Given the description of an element on the screen output the (x, y) to click on. 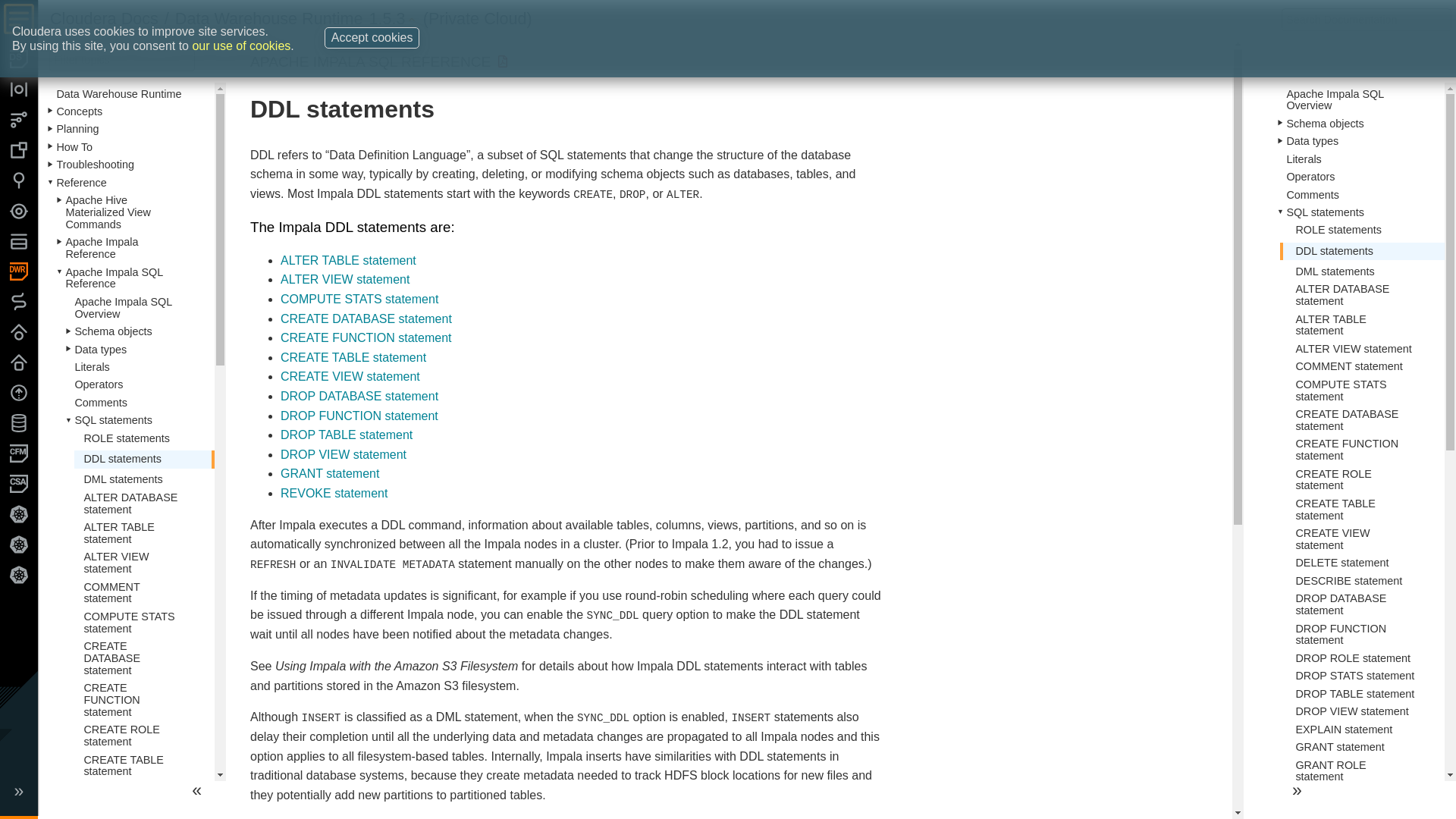
Cloudera Docs (103, 18)
Data Warehouse Runtime (268, 18)
